Given the description of an element on the screen output the (x, y) to click on. 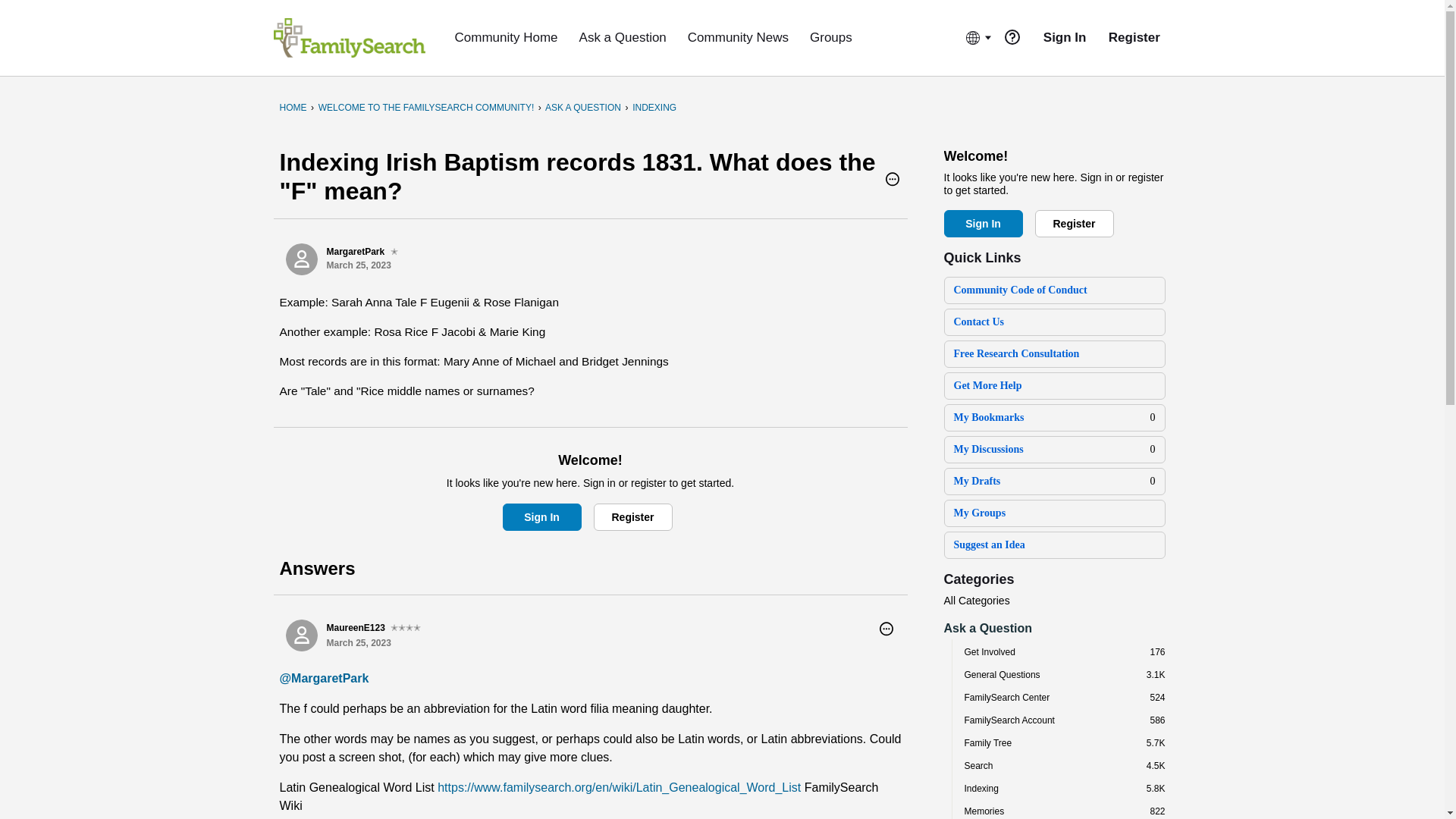
March 25, 2023 5:43AM (358, 265)
Sign In (541, 516)
notice-question (1012, 36)
MaureenE123 (301, 635)
March 25, 2023 6:14AM (358, 643)
Level 4 (405, 627)
MargaretPark (301, 259)
Level 1 (393, 251)
Register (631, 516)
